Given the description of an element on the screen output the (x, y) to click on. 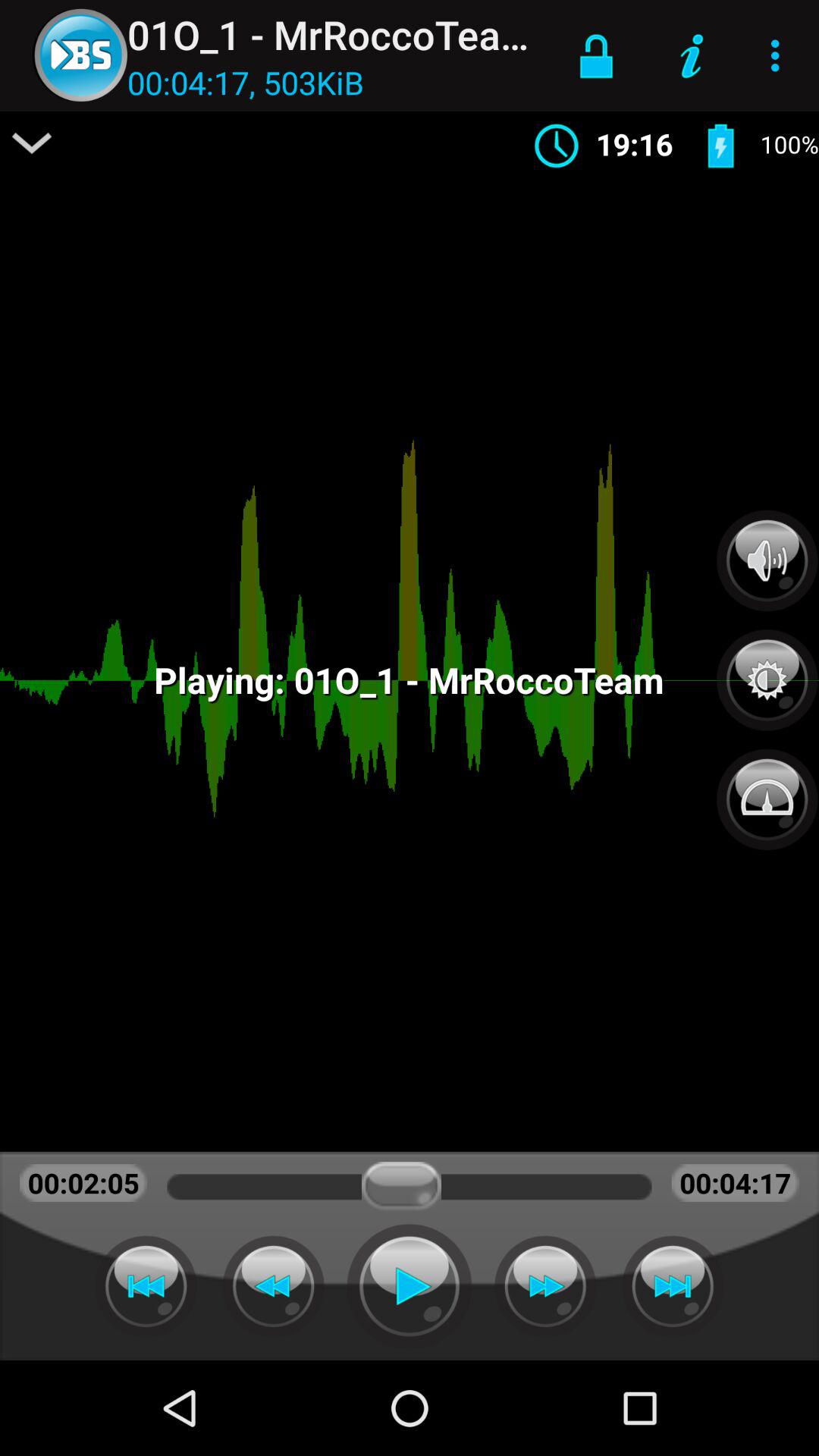
click item to the right of the 01o_1 - mrroccoteam icon (595, 55)
